Given the description of an element on the screen output the (x, y) to click on. 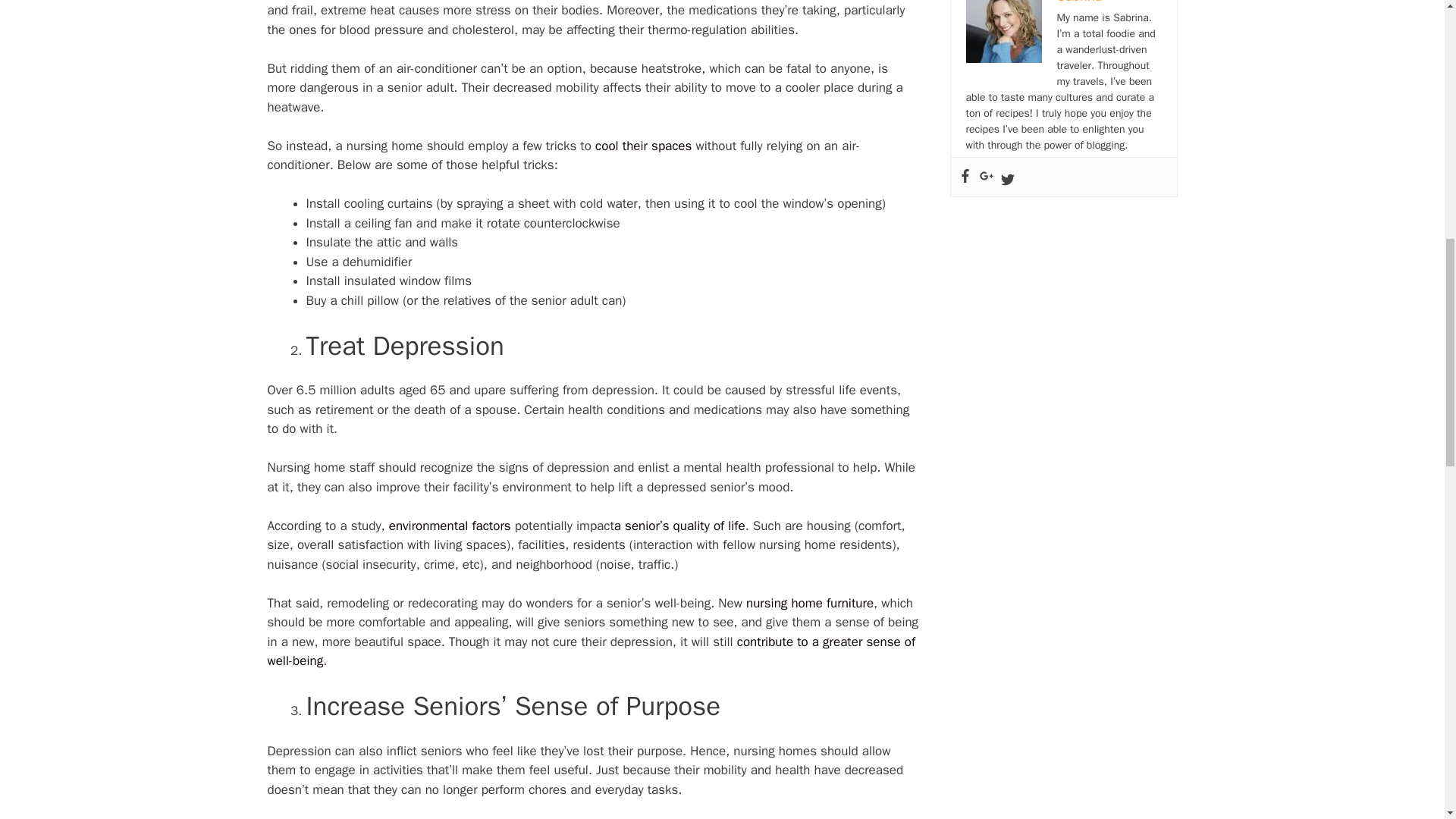
contribute to a greater sense of well-being (590, 651)
nursing home furniture (809, 602)
environmental factors (449, 525)
cool their spaces (645, 145)
